Given the description of an element on the screen output the (x, y) to click on. 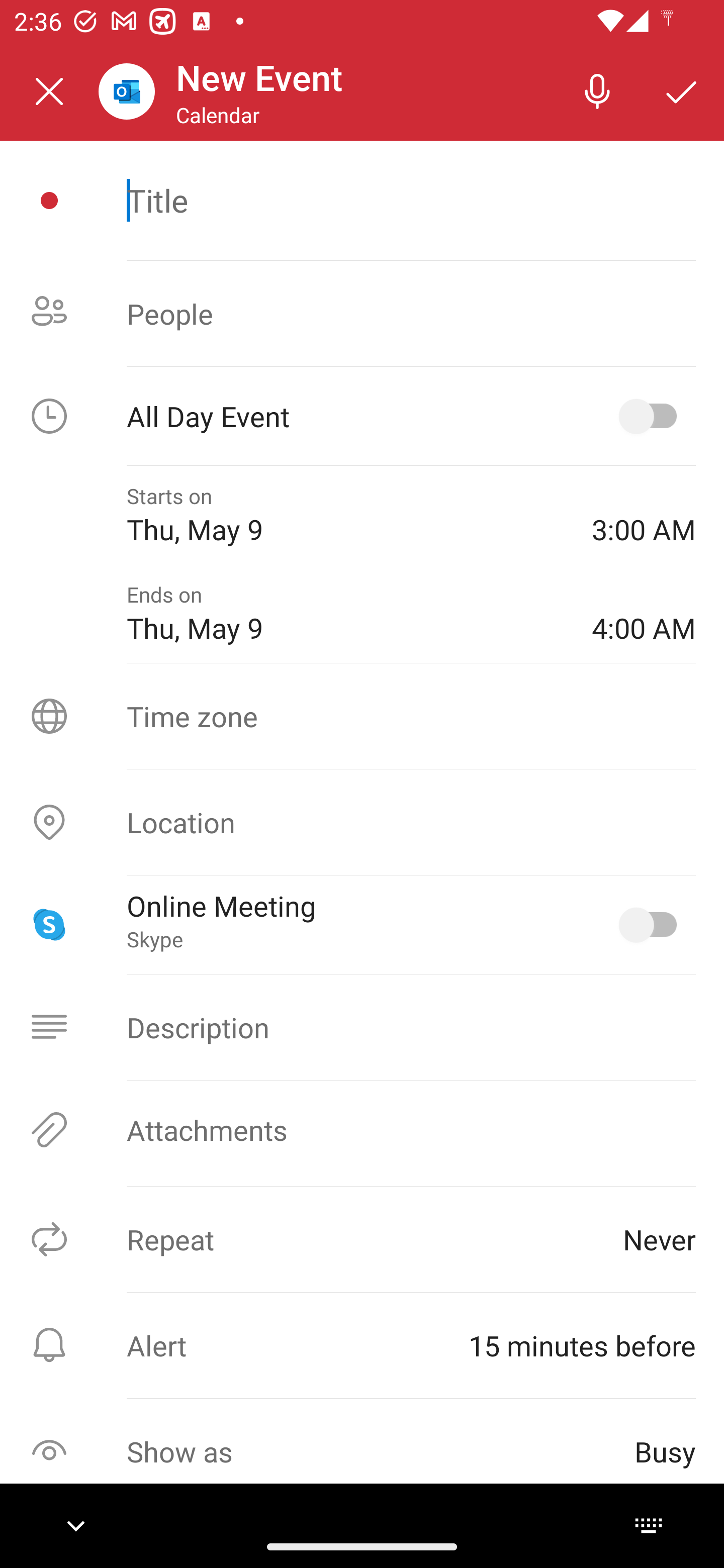
Close (49, 91)
Save (681, 90)
Title (410, 200)
Event icon picker (48, 200)
People (362, 313)
All Day Event (362, 415)
Starts on Thu, May 9 (344, 514)
3:00 AM (643, 514)
Ends on Thu, May 9 (344, 613)
4:00 AM (643, 613)
Time zone (362, 715)
Location (362, 821)
Online Meeting, Skype selected (651, 923)
Description (362, 1026)
Attachments (362, 1129)
Repeat Never (362, 1239)
Alert ⁨15 minutes before (362, 1345)
Show as Busy (362, 1450)
